Given the description of an element on the screen output the (x, y) to click on. 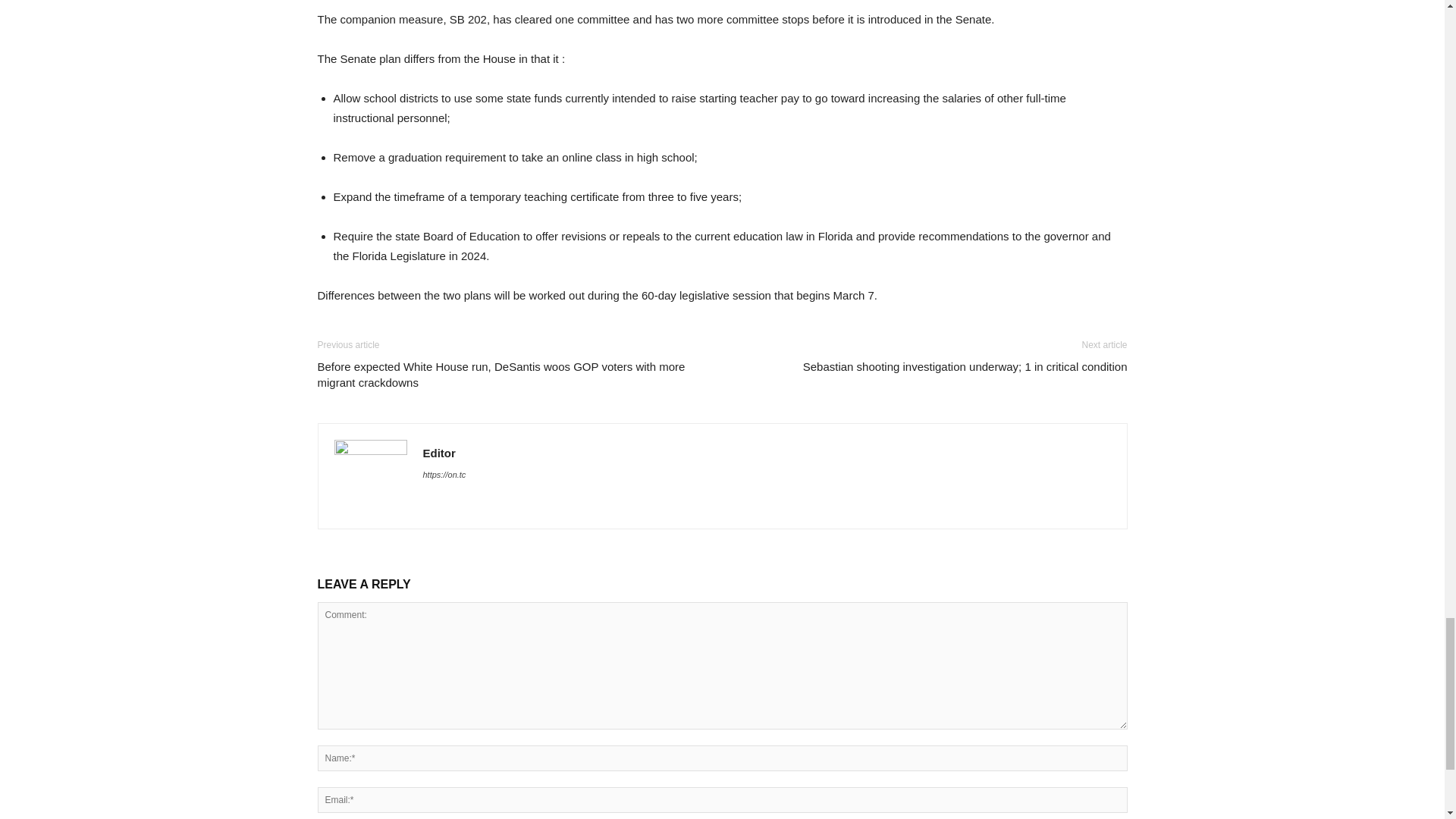
Editor (439, 452)
